Given the description of an element on the screen output the (x, y) to click on. 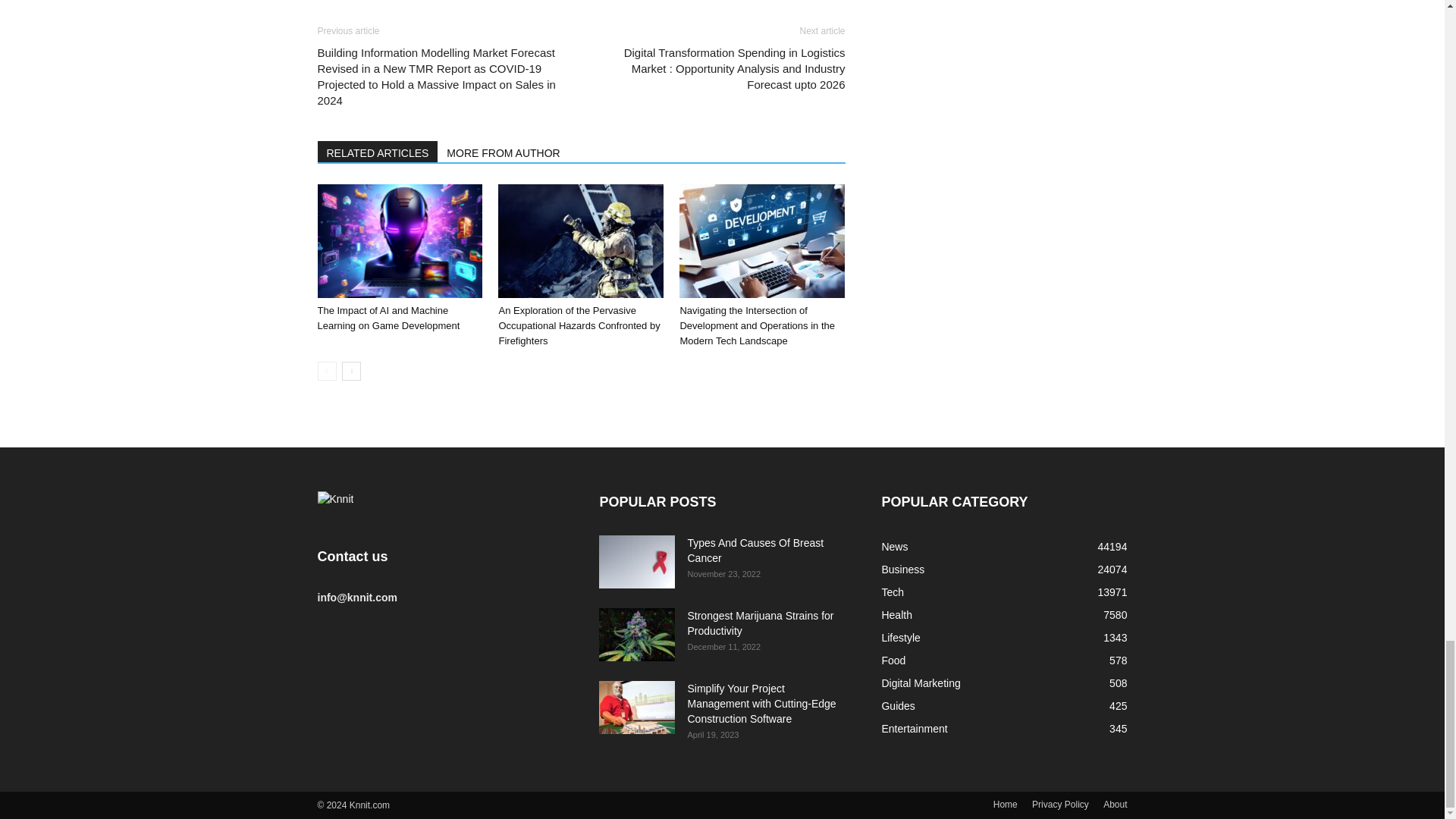
The Impact of AI and Machine Learning on Game Development (388, 317)
RELATED ARTICLES (377, 151)
MORE FROM AUTHOR (503, 151)
The Impact of AI and Machine Learning on Game Development (399, 241)
